Given the description of an element on the screen output the (x, y) to click on. 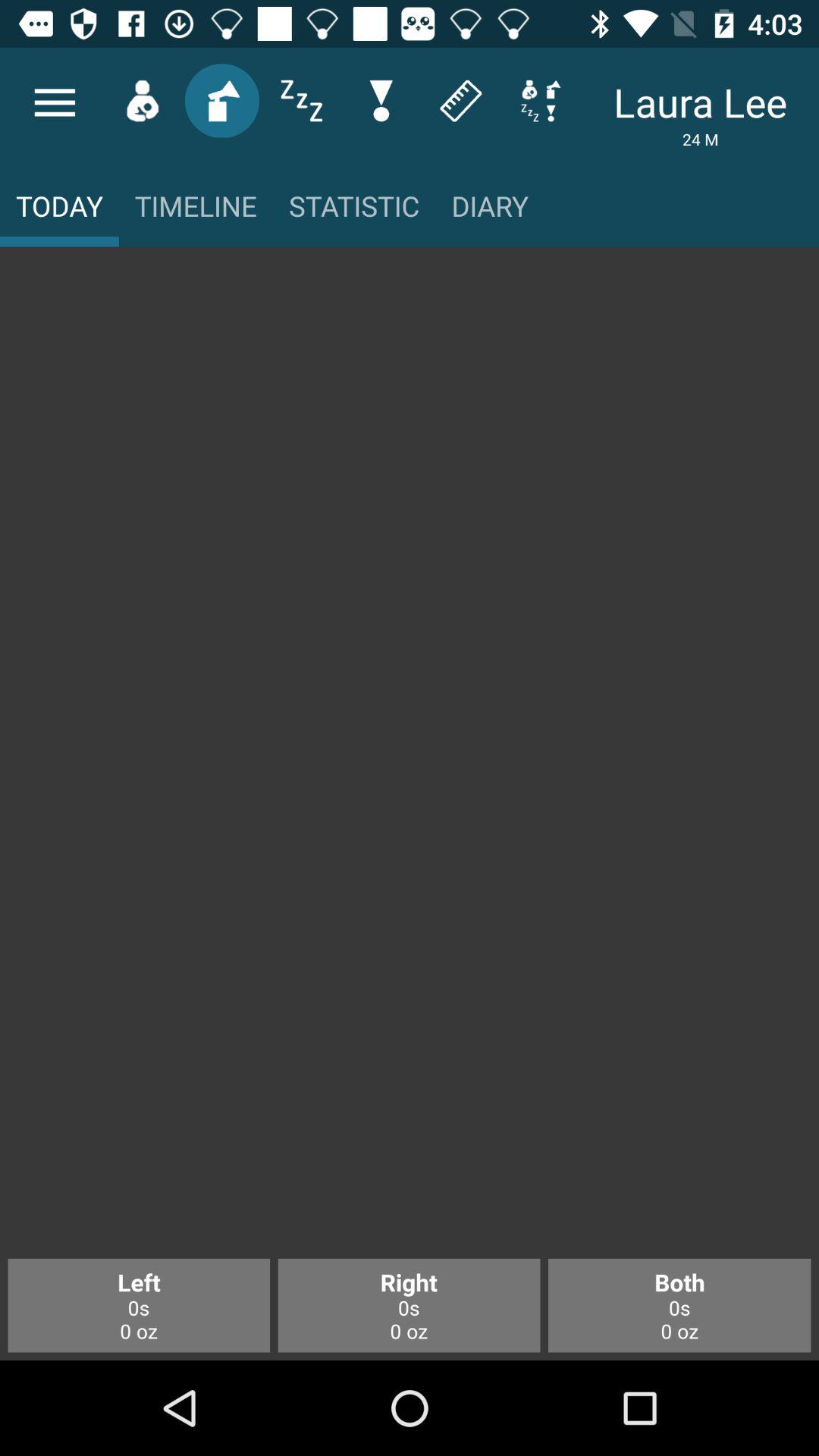
enlarge main panel (409, 760)
